Given the description of an element on the screen output the (x, y) to click on. 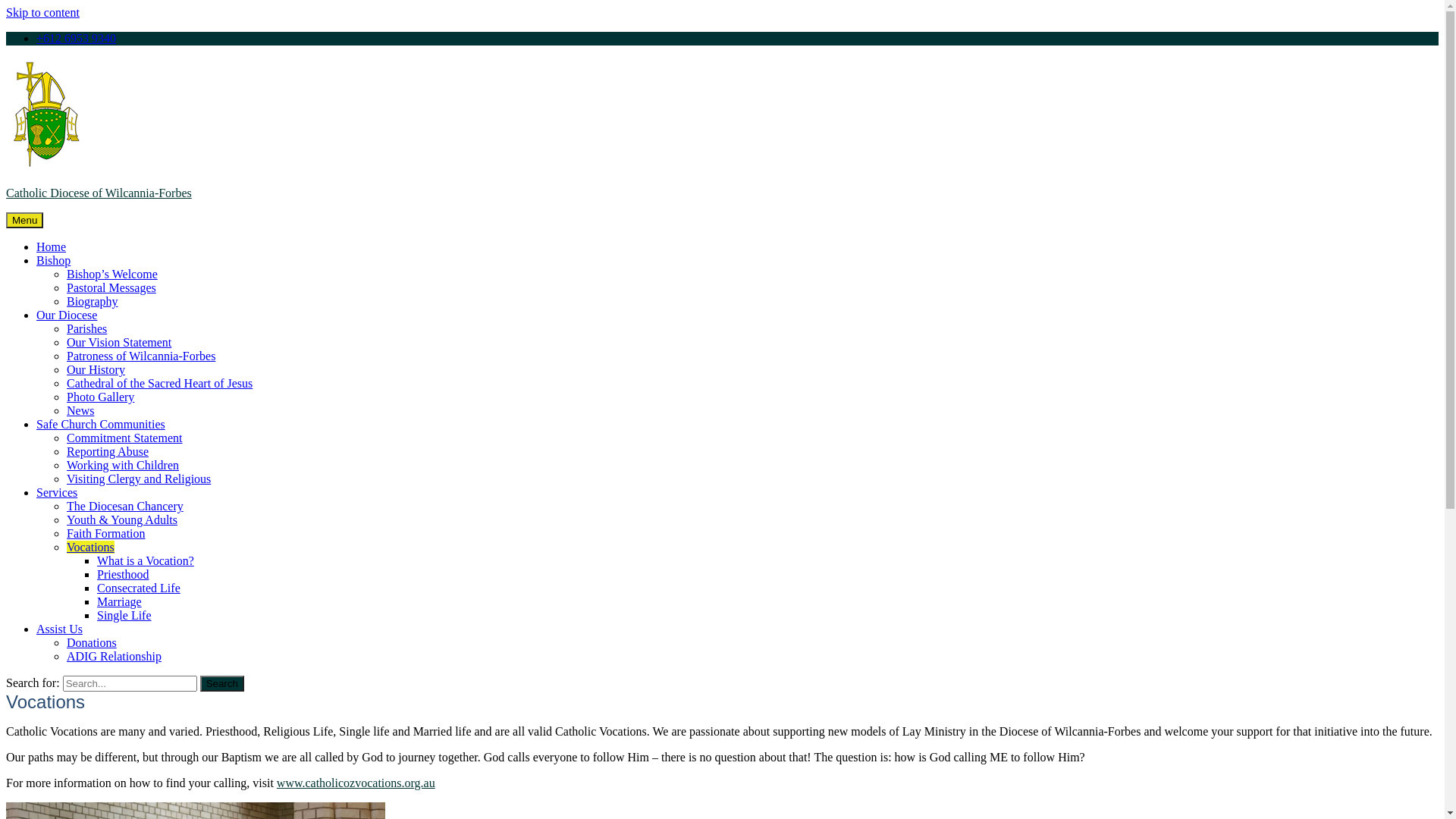
Our Vision Statement Element type: text (118, 341)
Single Life Element type: text (124, 614)
Commitment Statement Element type: text (124, 437)
Bishop Element type: text (53, 260)
Biography Element type: text (92, 300)
Services Element type: text (56, 492)
Faith Formation Element type: text (105, 533)
Safe Church Communities Element type: text (100, 423)
What is a Vocation? Element type: text (145, 560)
ADIG Relationship Element type: text (113, 655)
Search Element type: text (222, 683)
Marriage Element type: text (119, 601)
Skip to content Element type: text (42, 12)
Home Element type: text (50, 246)
Youth & Young Adults Element type: text (121, 519)
Catholic Diocese of Wilcannia-Forbes Element type: text (98, 192)
The Diocesan Chancery Element type: text (124, 505)
Pastoral Messages Element type: text (111, 287)
www.catholicozvocations.org.au Element type: text (355, 782)
Vocations Element type: text (90, 546)
Working with Children Element type: text (122, 464)
+612 6953 9340 Element type: text (76, 37)
Our Diocese Element type: text (66, 314)
News Element type: text (80, 410)
Photo Gallery Element type: text (100, 396)
Our History Element type: text (95, 369)
Search for: Element type: hover (129, 683)
Consecrated Life Element type: text (138, 587)
Donations Element type: text (91, 642)
Assist Us Element type: text (59, 628)
Menu Element type: text (24, 220)
Visiting Clergy and Religious Element type: text (138, 478)
Patroness of Wilcannia-Forbes Element type: text (140, 355)
Reporting Abuse Element type: text (107, 451)
Priesthood Element type: text (122, 573)
Parishes Element type: text (86, 328)
Cathedral of the Sacred Heart of Jesus Element type: text (159, 382)
